Given the description of an element on the screen output the (x, y) to click on. 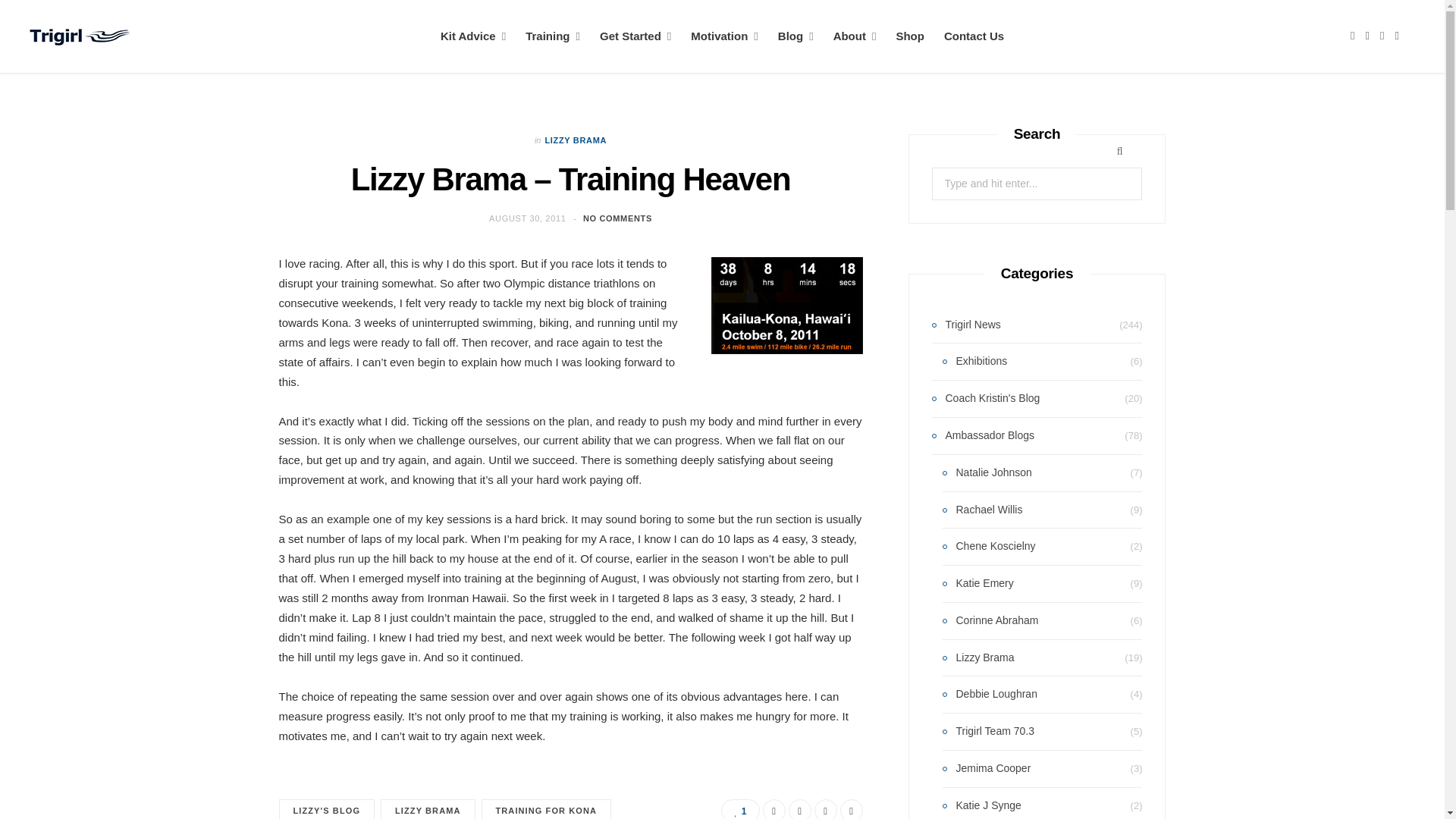
Training (552, 36)
Kit Advice (472, 36)
Kona (787, 305)
Triathlon Kit Advice (472, 36)
Triathlon Motivation (724, 36)
Triathlon Tips for Beginners (635, 36)
Get Started (635, 36)
Triathlon Training (552, 36)
